Given the description of an element on the screen output the (x, y) to click on. 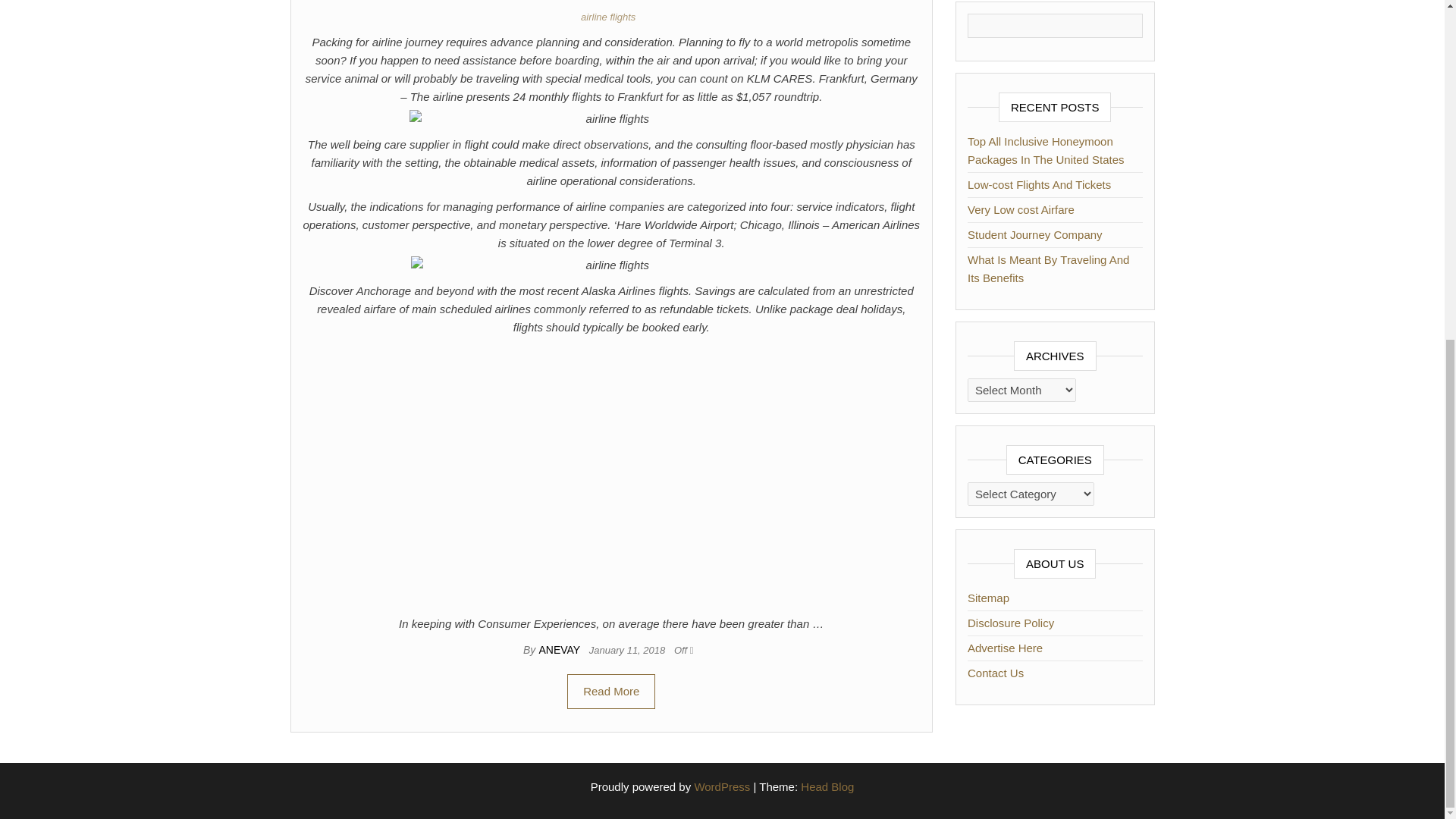
airline flights (611, 16)
Low-cost Flights And Tickets (1039, 184)
What Is Meant By Traveling And Its Benefits (1048, 268)
Read More (611, 691)
Very Low cost Airfare (1021, 209)
Top All Inclusive Honeymoon Packages In The United States (1046, 150)
ANEVAY (560, 649)
Student Journey Company (1035, 234)
